Given the description of an element on the screen output the (x, y) to click on. 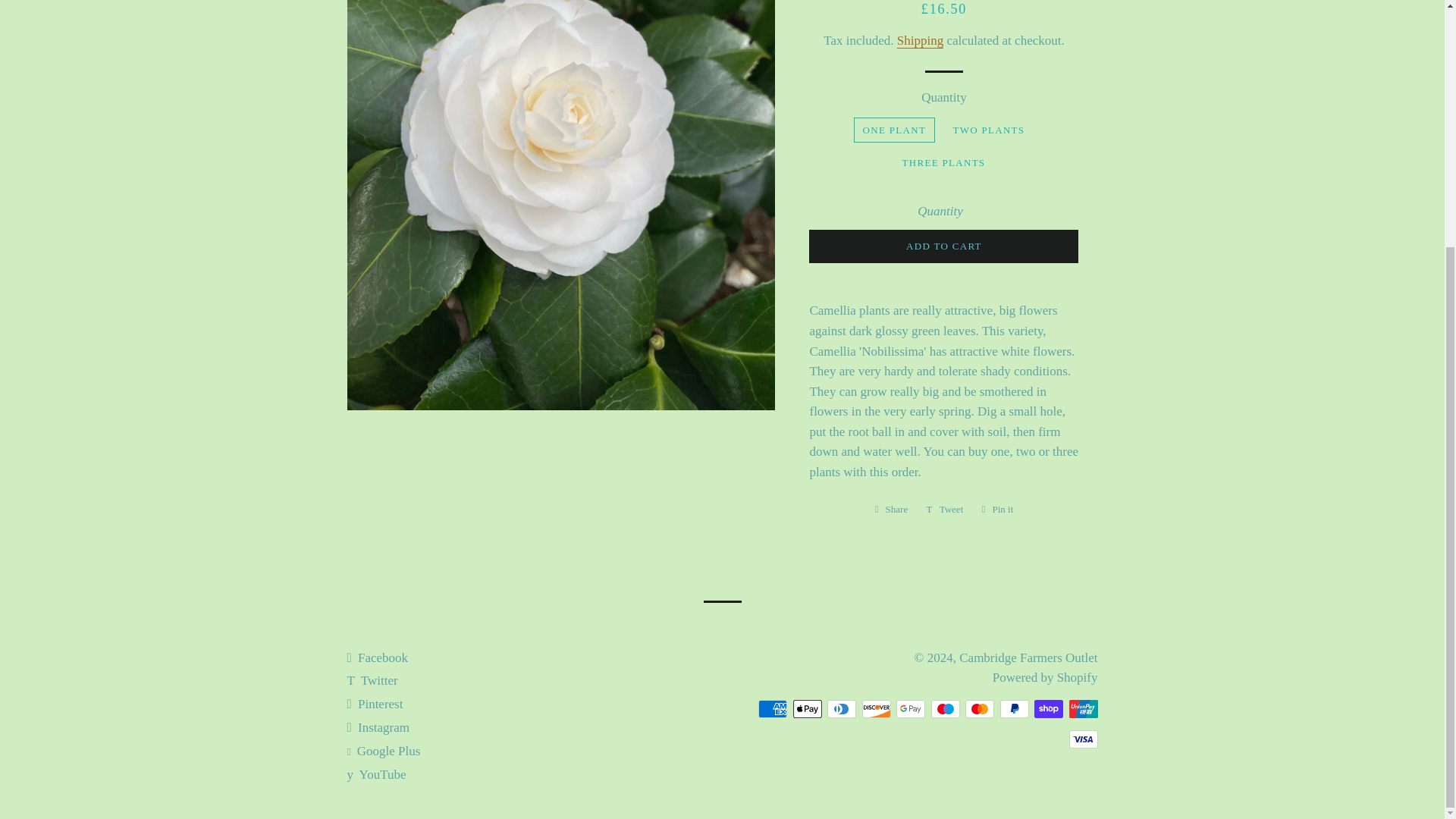
American Express (772, 709)
Mastercard (979, 709)
Pinterest (997, 508)
Cambridge Farmers Outlet on Pinterest (375, 703)
Apple Pay (375, 703)
Google Pay (807, 709)
Shipping (910, 709)
Union Pay (919, 40)
Tweet on Twitter (1082, 709)
Cambridge Farmers Outlet on YouTube (944, 508)
Cambridge Farmers Outlet (376, 774)
ADD TO CART (1028, 657)
Cambridge Farmers Outlet on Instagram (943, 246)
Maestro (378, 727)
